Given the description of an element on the screen output the (x, y) to click on. 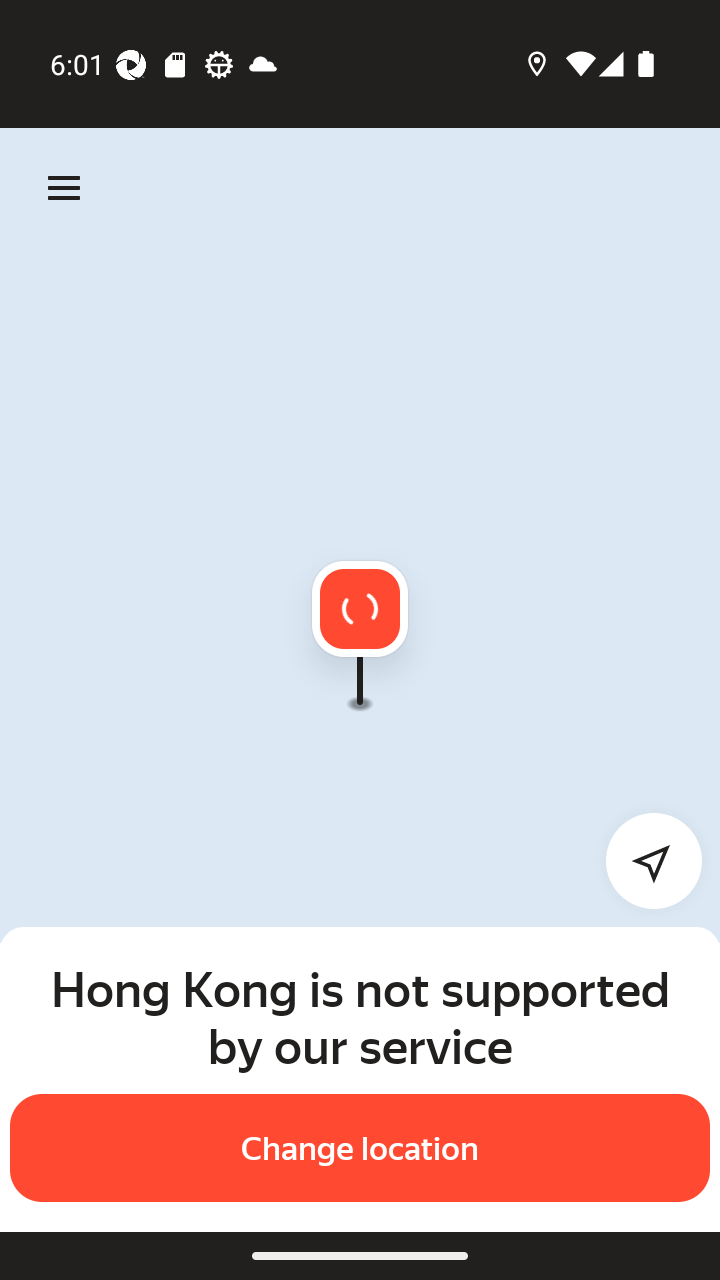
Menu Menu Menu (64, 188)
Detect my location (641, 860)
Hong Kong is not supported by our service (360, 1017)
Change location (359, 1147)
